Given the description of an element on the screen output the (x, y) to click on. 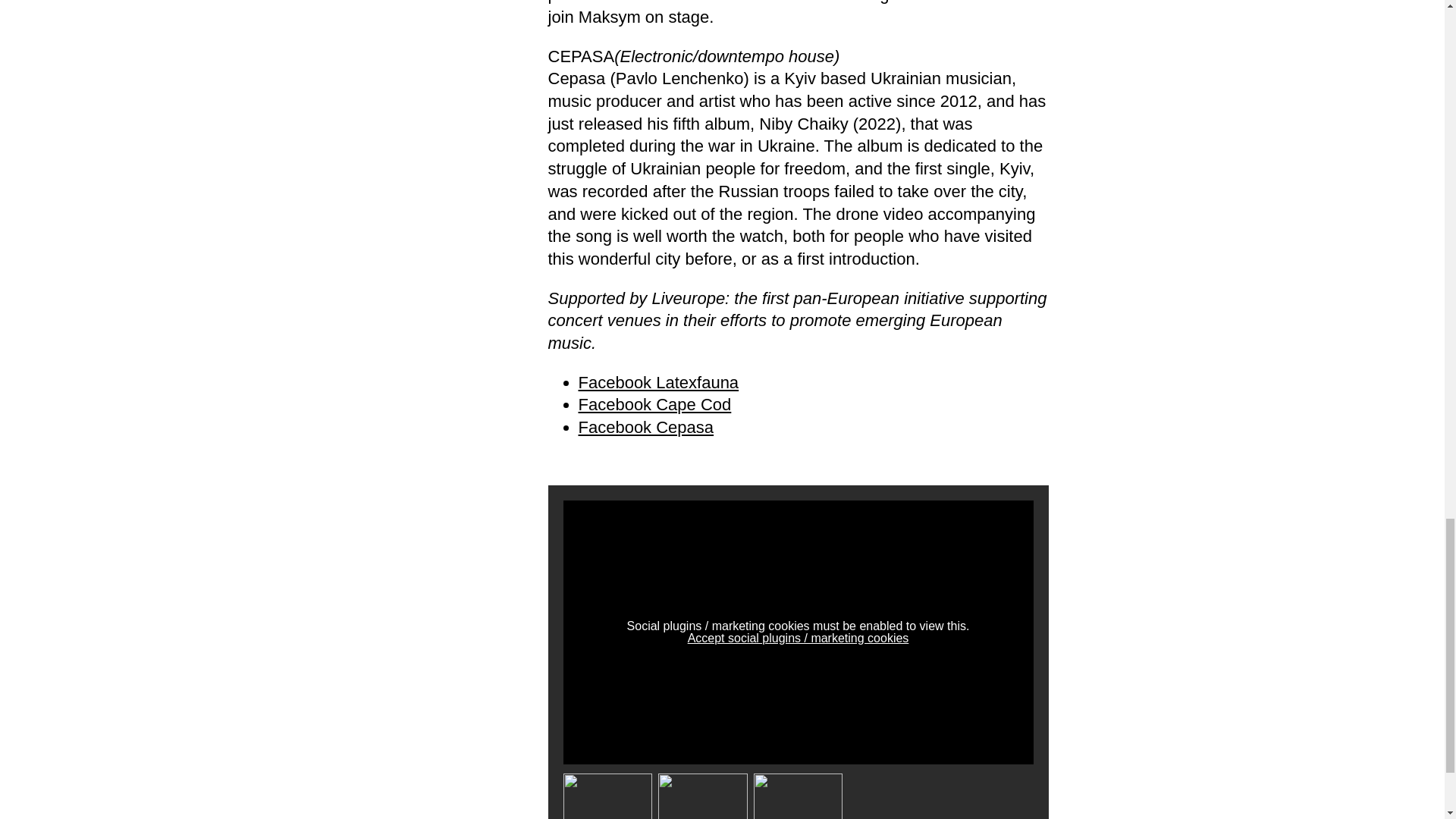
Facebook Latexfauna (658, 382)
Facebook Cape Cod (654, 404)
Play video 1 (607, 796)
Play video 2 (703, 796)
Facebook Cepasa (645, 426)
